Given the description of an element on the screen output the (x, y) to click on. 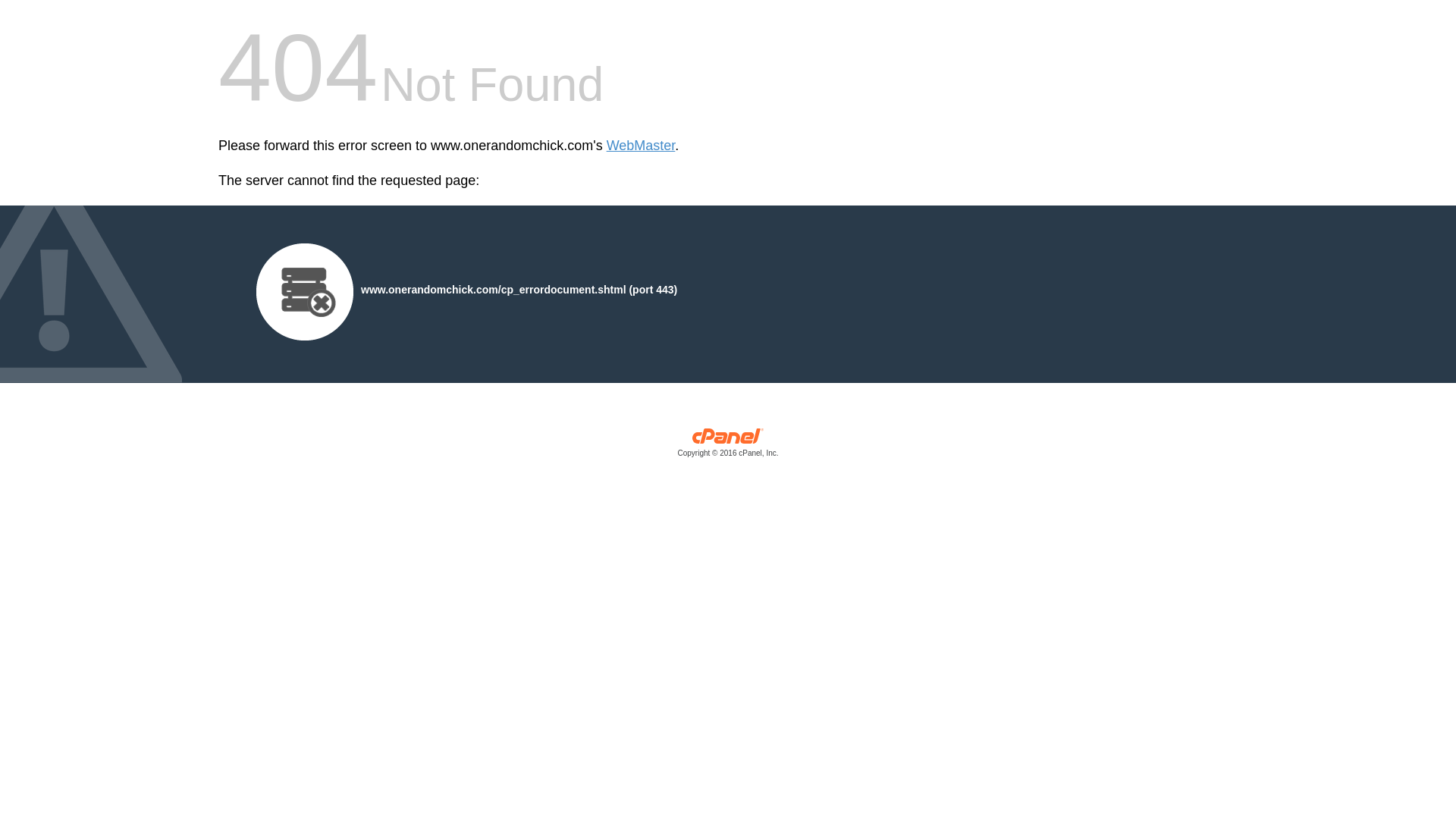
cPanel, Inc. (727, 446)
WebMaster (641, 145)
